Given the description of an element on the screen output the (x, y) to click on. 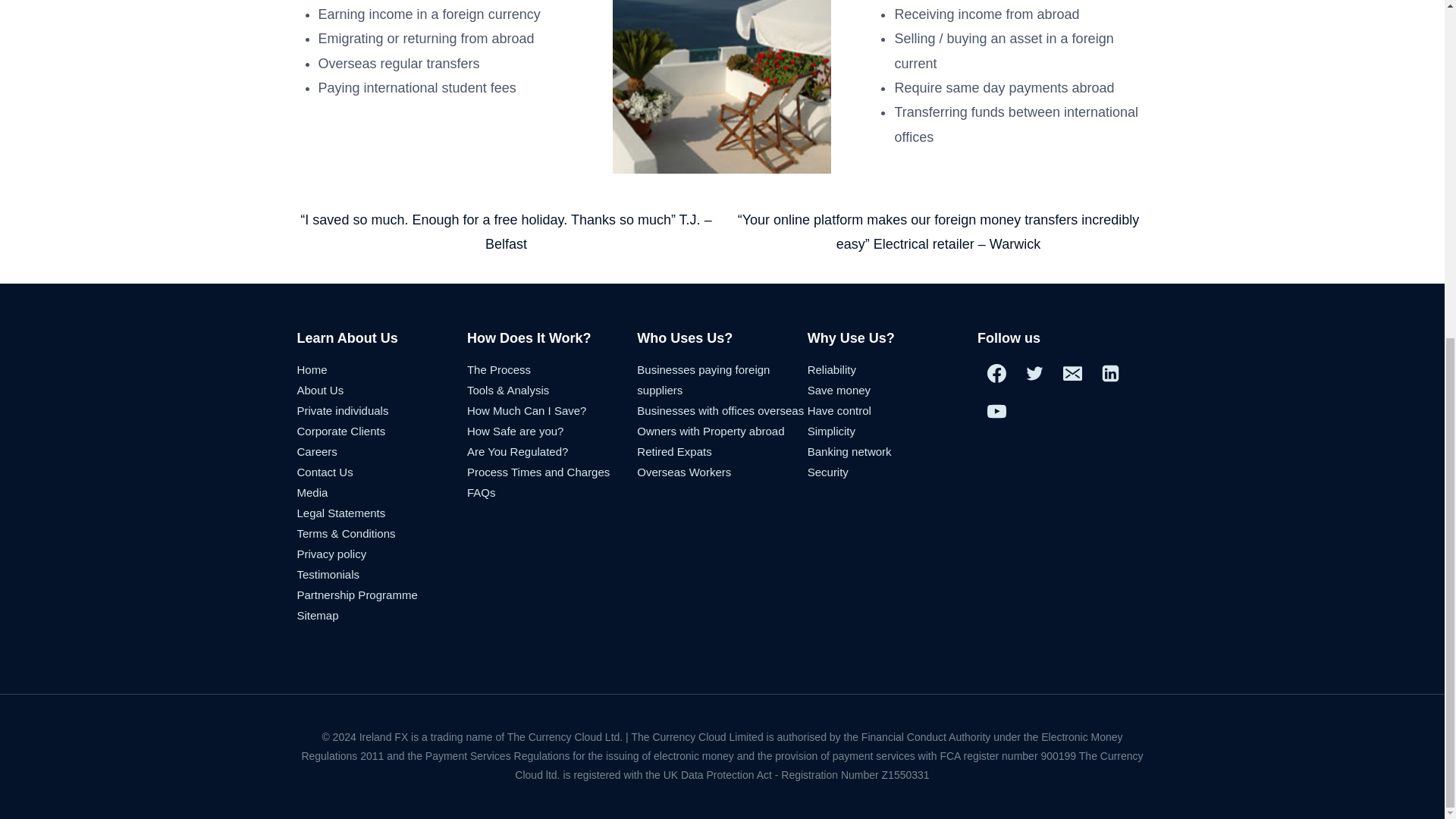
About Us (320, 390)
Privacy policy (331, 553)
Legal Statements (341, 512)
How Safe are you? (515, 431)
Media (313, 492)
Process Times and Charges (538, 472)
Corporate Clients (341, 431)
Overseas Workers (683, 472)
Testimonials (328, 574)
Private individuals (342, 410)
